Given the description of an element on the screen output the (x, y) to click on. 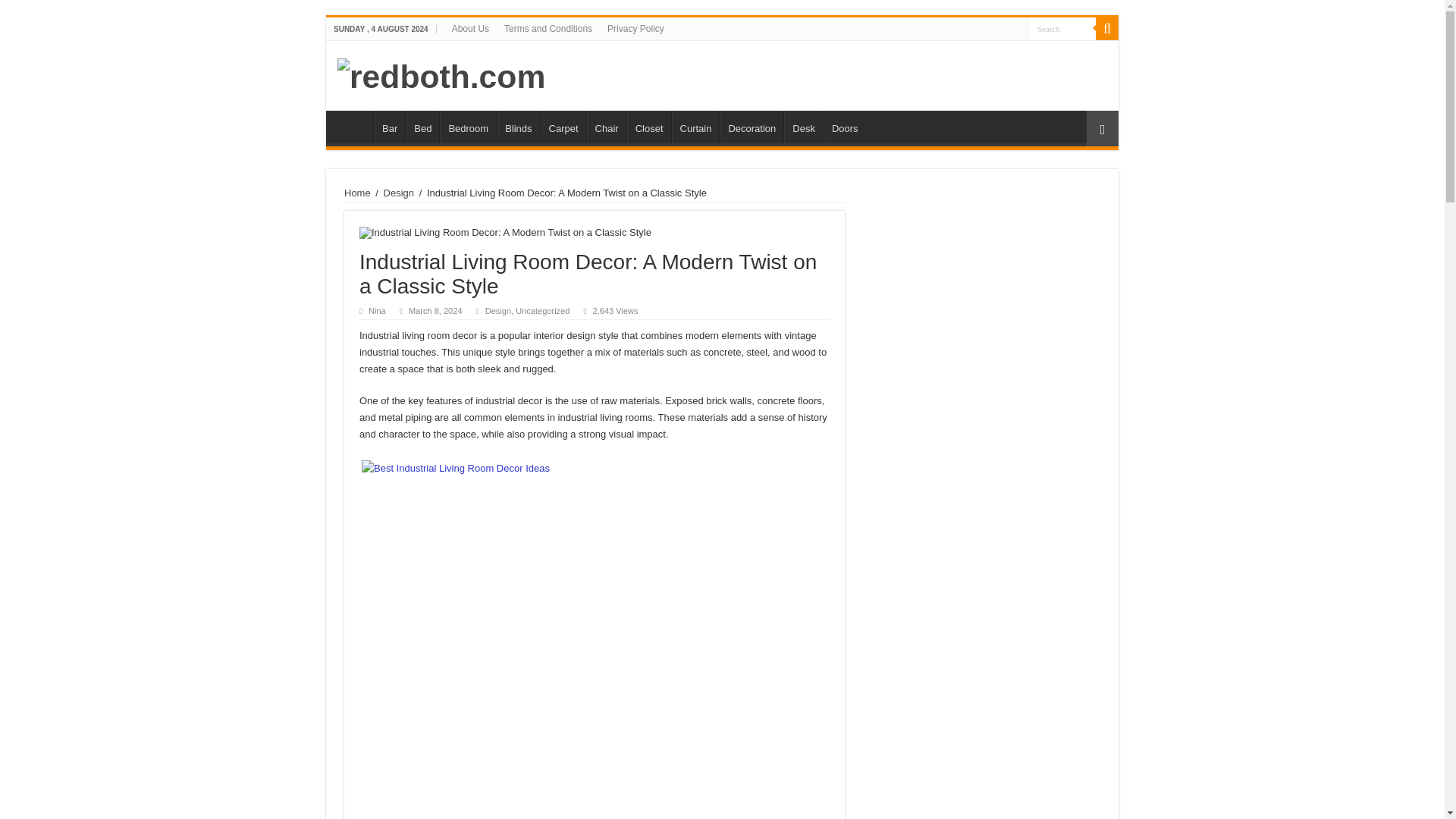
Carpet (563, 126)
About Us (470, 28)
Search (1061, 28)
redboth.com (440, 74)
Privacy Policy (635, 28)
Curtain (695, 126)
Uncategorized (542, 310)
Doors (845, 126)
Bedroom (467, 126)
Design (398, 193)
Closet (649, 126)
Home (352, 126)
Nina (376, 310)
Decoration (751, 126)
